Given the description of an element on the screen output the (x, y) to click on. 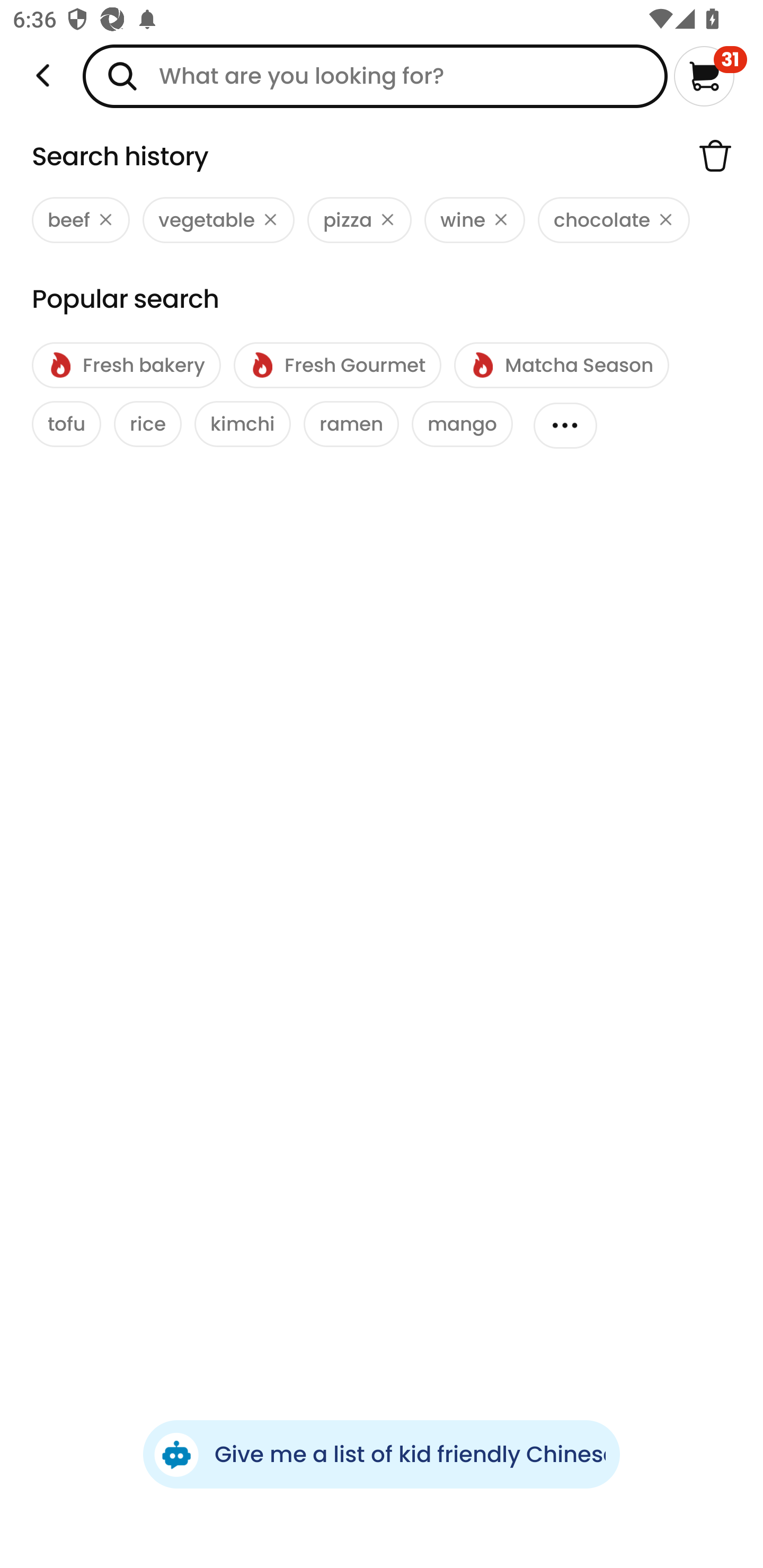
What are you looking for? (374, 75)
31 (709, 75)
Weee! (42, 76)
beef (80, 220)
vegetable (218, 220)
pizza (359, 220)
wine (474, 220)
chocolate (613, 220)
Fresh bakery (126, 364)
Fresh Gourmet (337, 364)
Matcha Season (561, 364)
tofu (66, 423)
rice (147, 423)
kimchi (242, 423)
ramen (351, 423)
mango (462, 423)
